Given the description of an element on the screen output the (x, y) to click on. 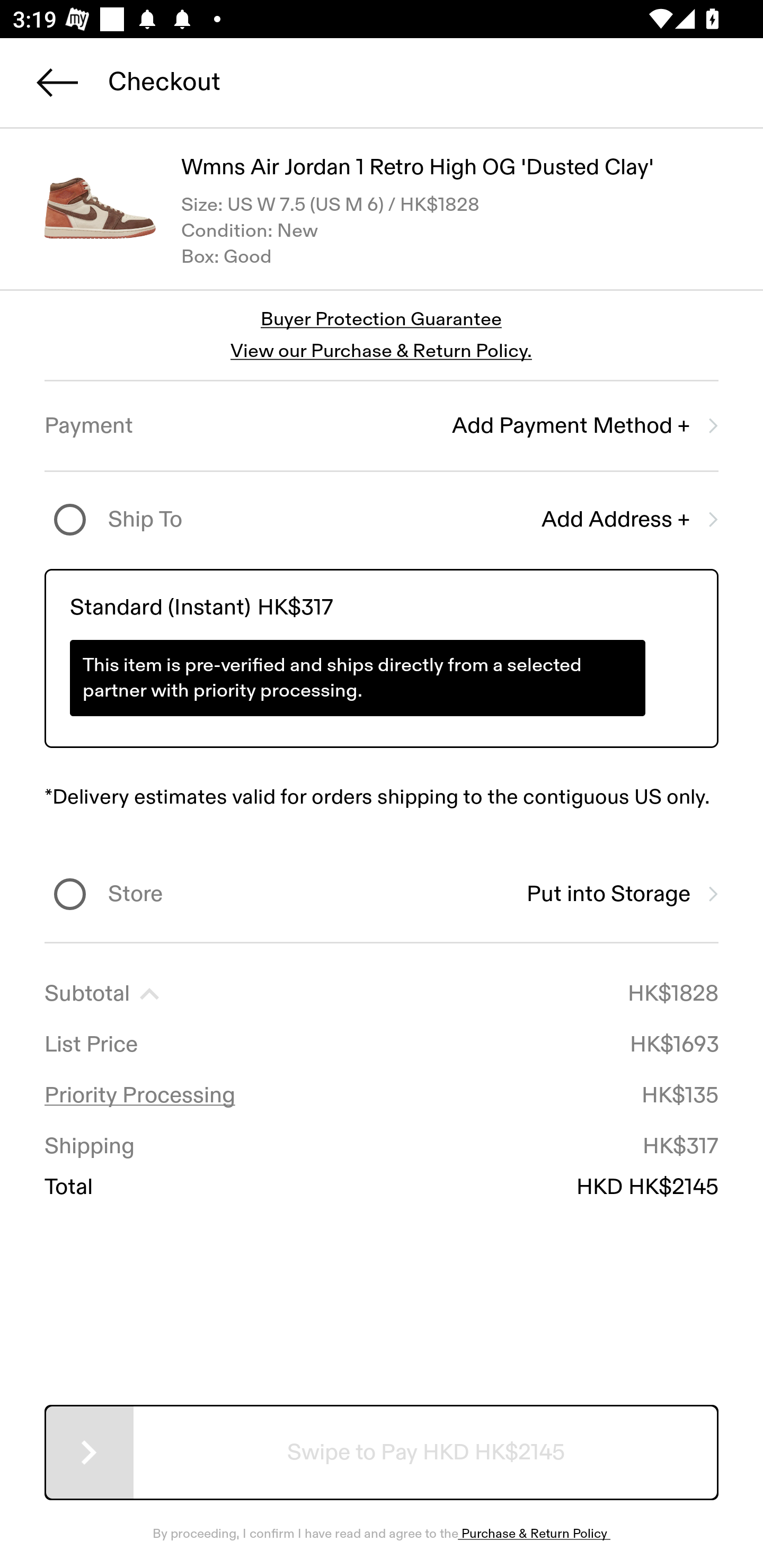
Navigate up (56, 82)
Buyer Protection Guarantee (381, 319)
View our Purchase & Return Policy. (380, 350)
Payment Add Payment Method + (381, 425)
Subtotal HK$1828 (381, 994)
Priority Processing HK$135 (381, 1095)
